Given the description of an element on the screen output the (x, y) to click on. 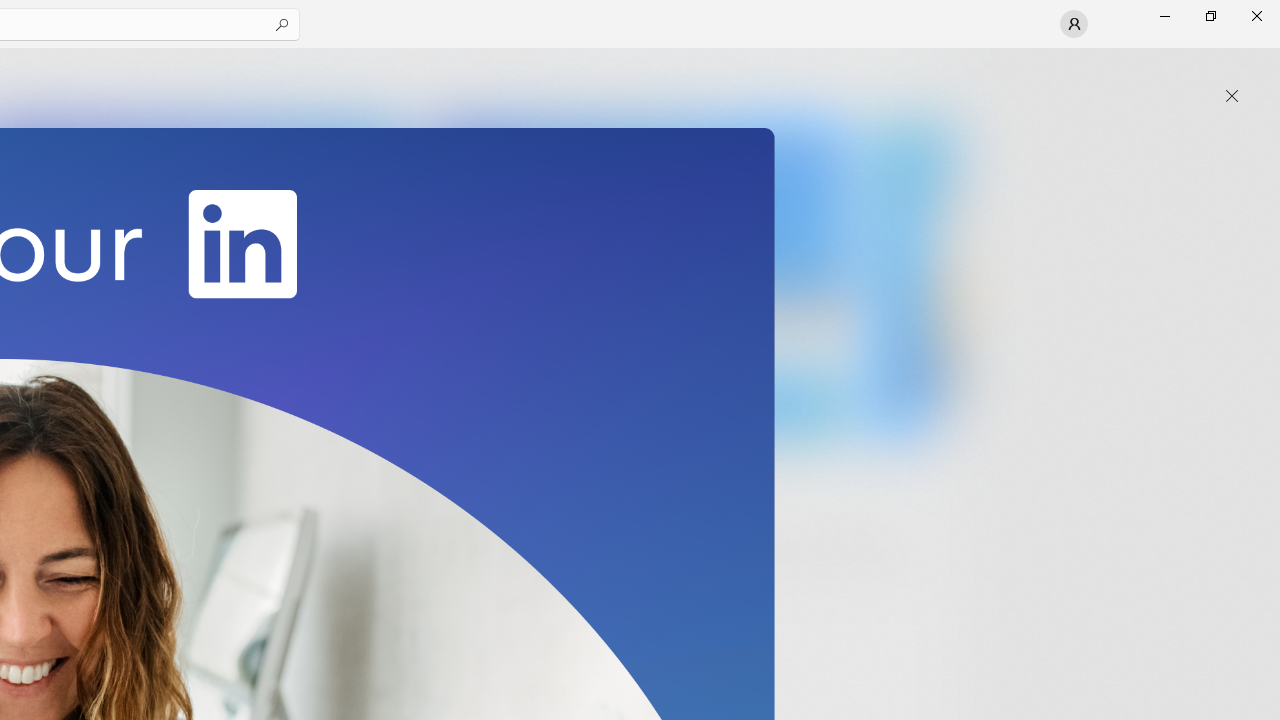
Screenshot 3 (636, 279)
See all (924, 72)
close popup window (1232, 95)
Screenshot 4 (912, 279)
